Given the description of an element on the screen output the (x, y) to click on. 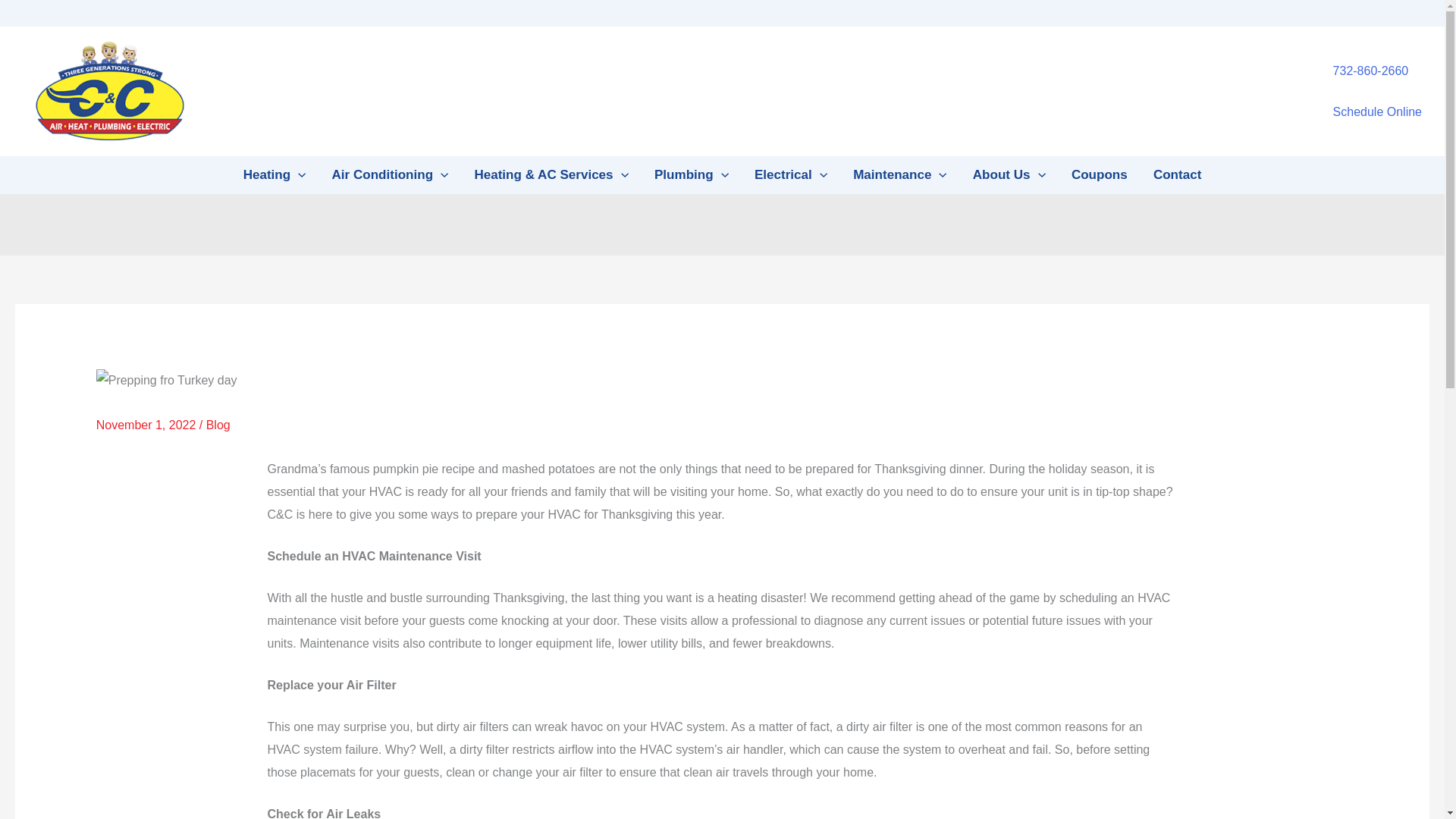
Plumbing (691, 175)
Maintenance (899, 175)
Schedule Online (1377, 110)
732-860-2660 (1371, 70)
Electrical (790, 175)
Air Conditioning (389, 175)
Heating (274, 175)
